Given the description of an element on the screen output the (x, y) to click on. 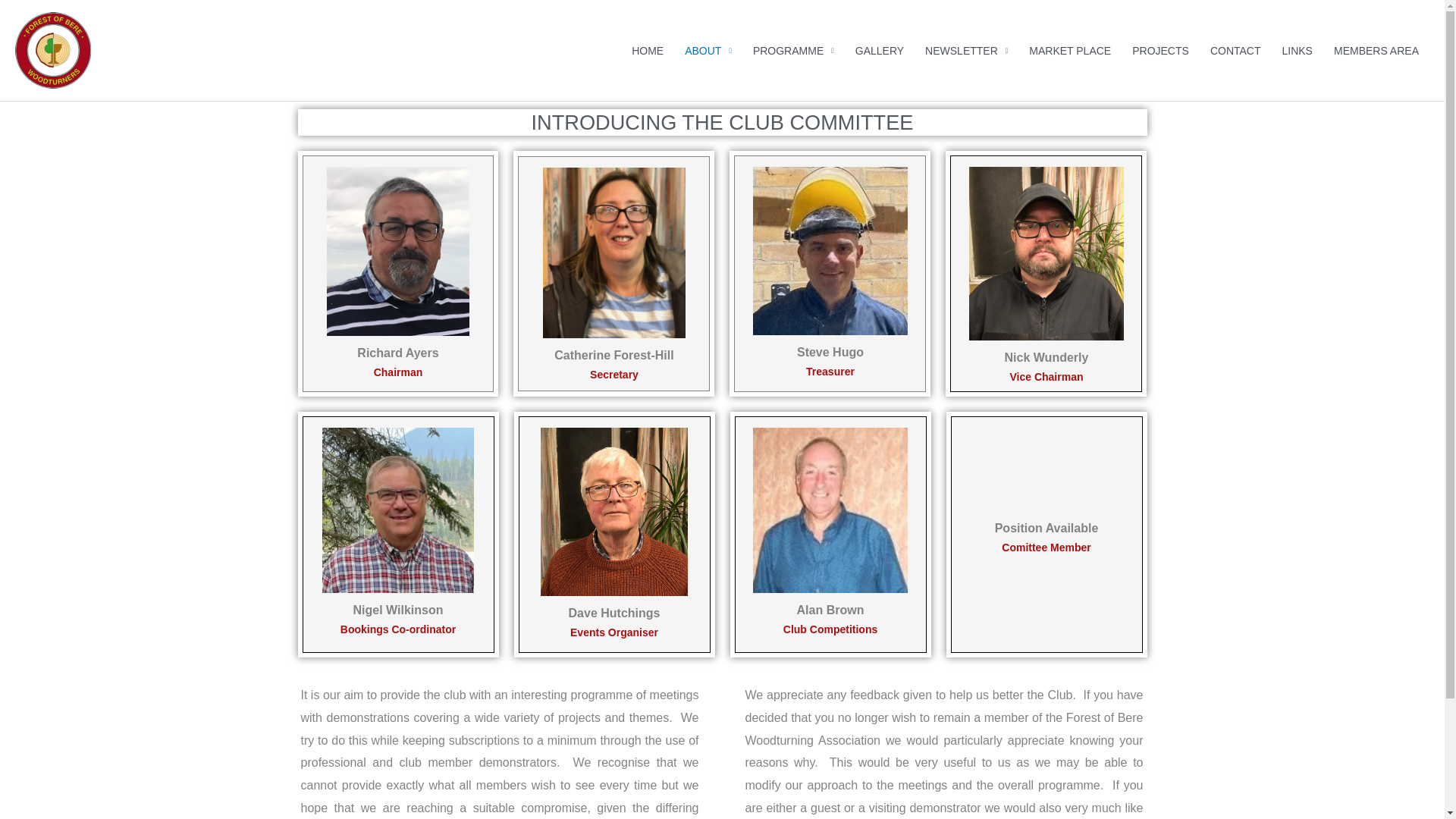
NEWSLETTER (965, 50)
MARKET PLACE (1069, 50)
PROGRAMME (793, 50)
MEMBERS AREA (1376, 50)
